Given the description of an element on the screen output the (x, y) to click on. 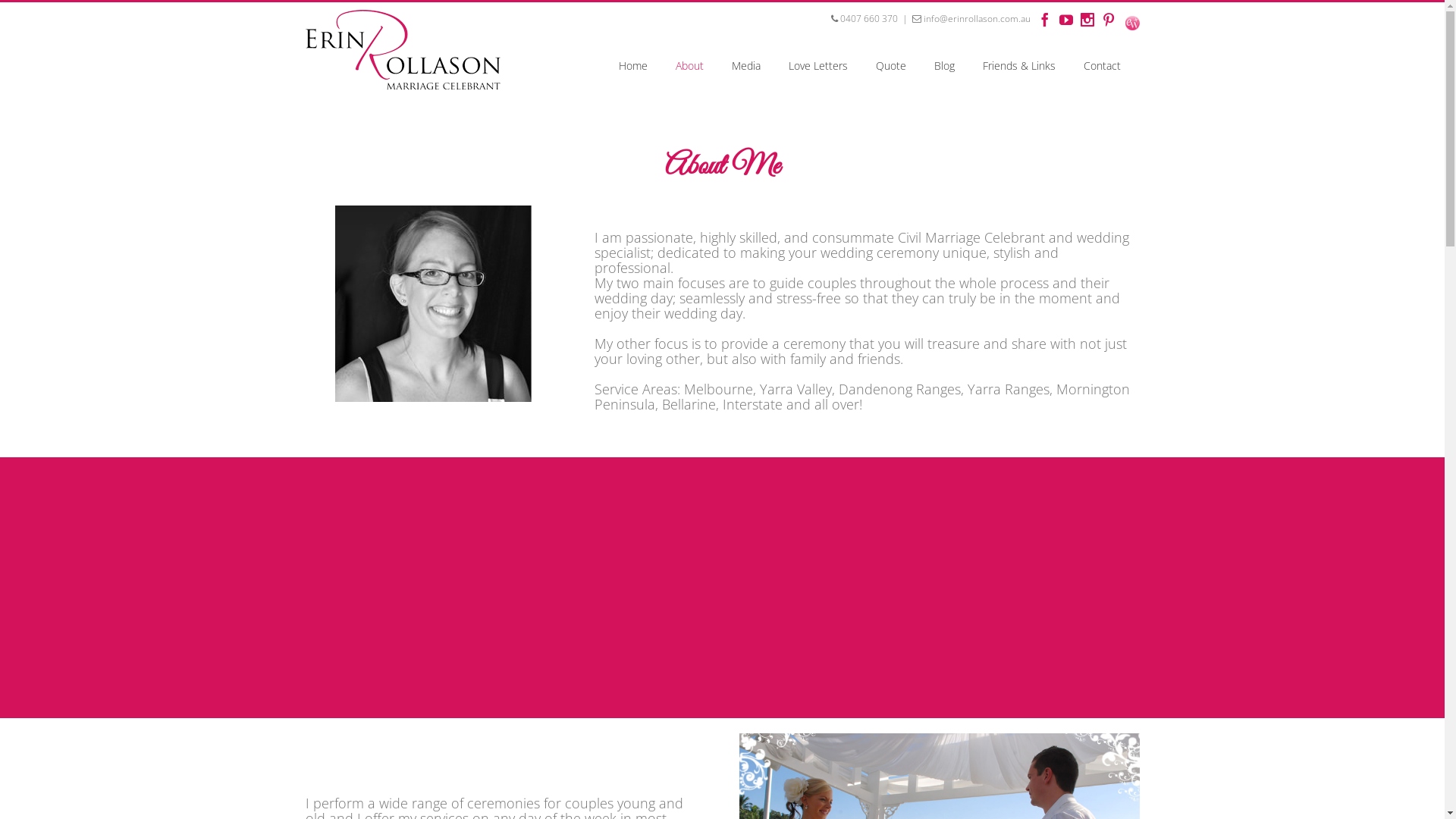
About Element type: text (688, 65)
0407 660 370 Element type: text (864, 18)
Quote Element type: text (890, 65)
info@erinrollason.com.au Element type: text (970, 18)
Friends & Links Element type: text (1018, 65)
Media Element type: text (744, 65)
Home Element type: text (632, 65)
Blog Element type: text (944, 65)
YouTube video player Element type: hover (721, 585)
Contact Element type: text (1101, 65)
Love Letters Element type: text (817, 65)
